Given the description of an element on the screen output the (x, y) to click on. 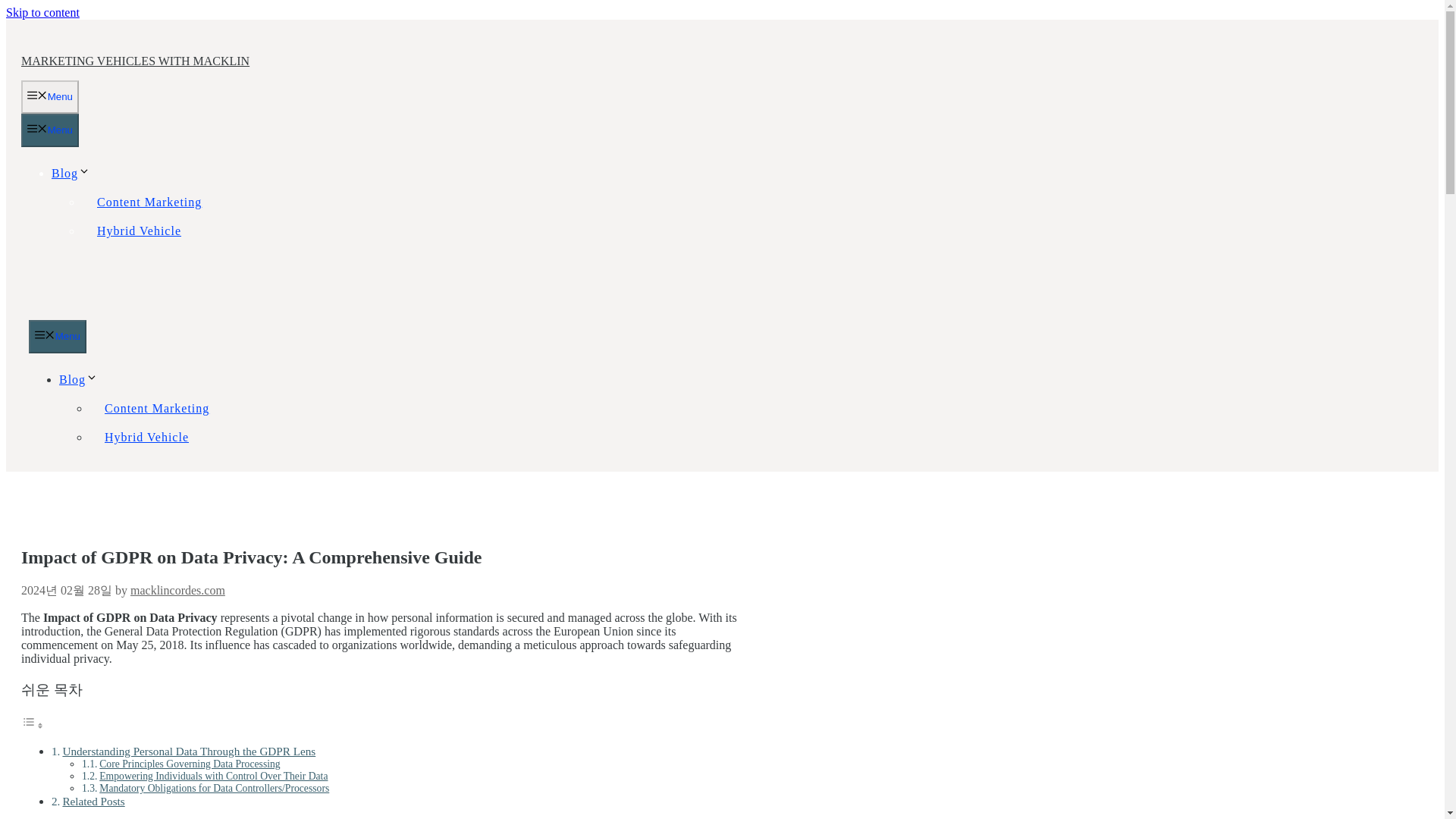
Hybrid Vehicle (145, 436)
Skip to content (42, 11)
View all posts by macklincordes.com (178, 590)
Blog (78, 379)
Empowering Individuals with Control Over Their Data (213, 776)
Understanding Personal Data Through the GDPR Lens (188, 750)
Skip to content (42, 11)
Marketing Vehicles with Macklin (142, 312)
Hybrid Vehicle (138, 230)
Understanding Personal Data Through the GDPR Lens (188, 750)
Related Posts (92, 800)
macklincordes.com (178, 590)
Core Principles Governing Data Processing (189, 763)
Menu (57, 336)
Content Marketing (156, 408)
